Given the description of an element on the screen output the (x, y) to click on. 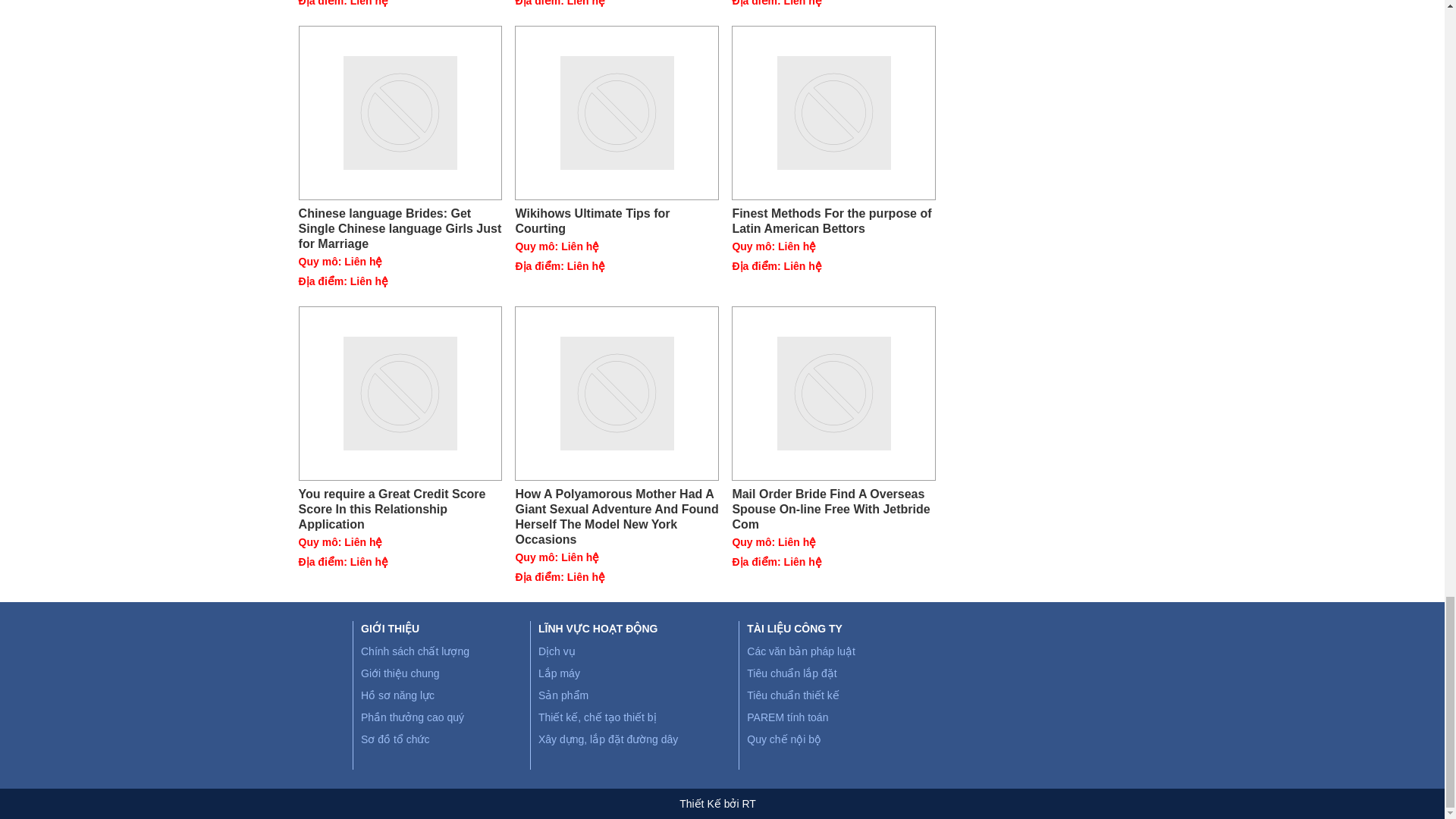
Wikihows Ultimate Tips for Courting (617, 112)
Finest Methods For the purpose of Latin American Bettors (834, 221)
Wikihows Ultimate Tips for Courting (617, 221)
Finest Methods For the purpose of Latin American Bettors (834, 221)
Wikihows Ultimate Tips for Courting (617, 221)
Finest Methods For the purpose of Latin American Bettors (834, 112)
